Given the description of an element on the screen output the (x, y) to click on. 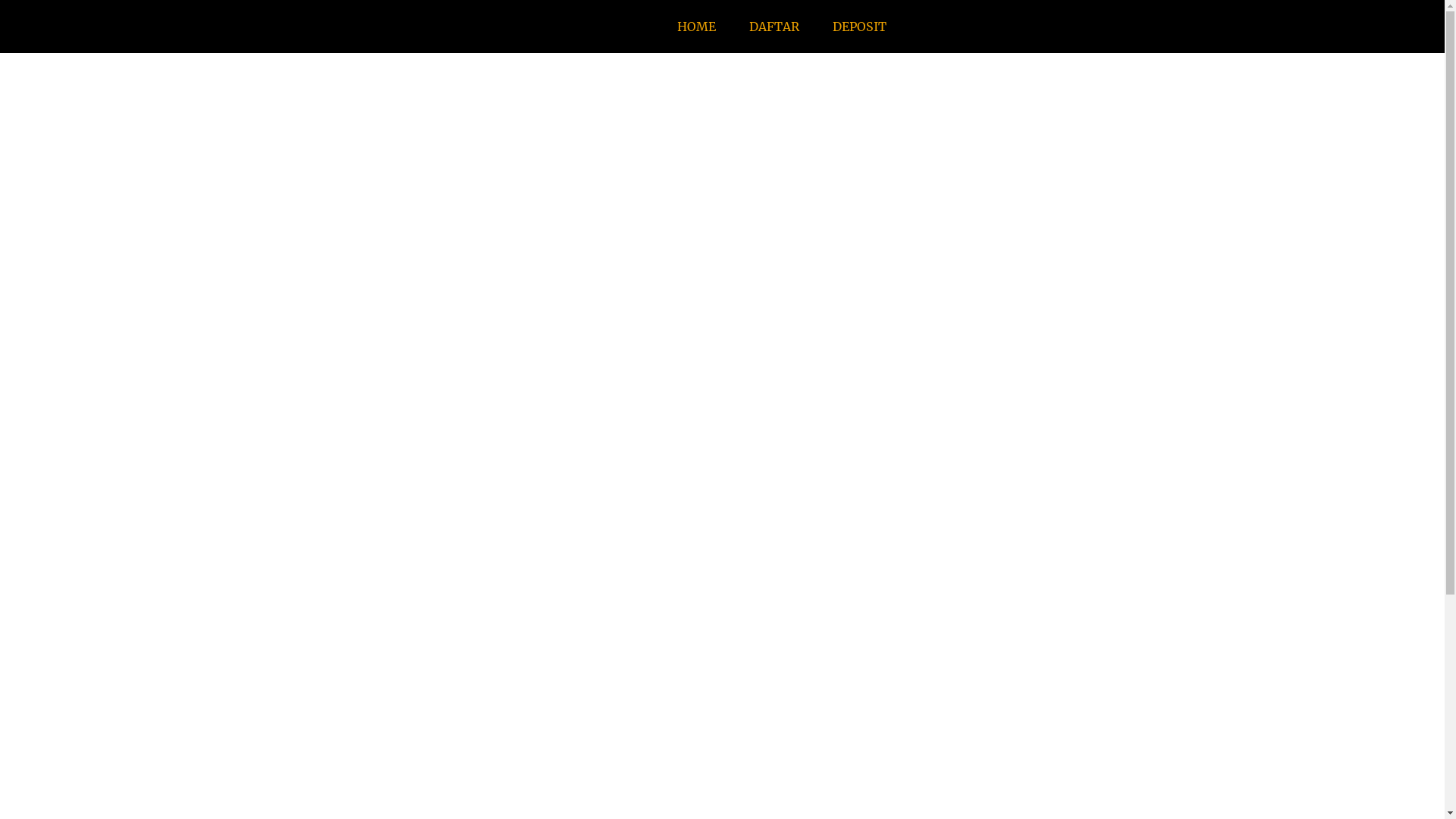
DAFTAR Element type: text (775, 26)
HOME Element type: text (697, 26)
DEPOSIT Element type: text (859, 26)
